Given the description of an element on the screen output the (x, y) to click on. 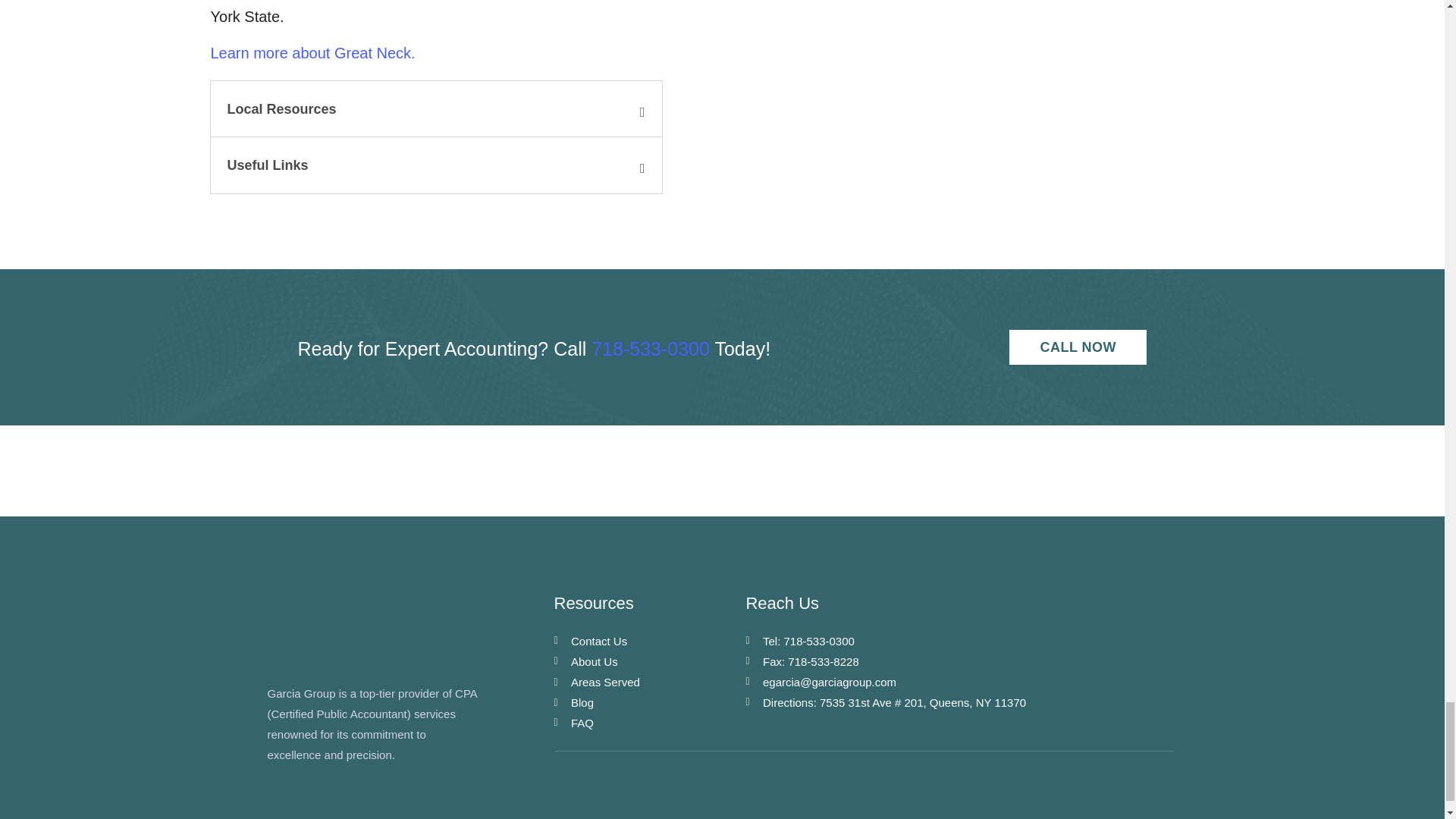
Reach Us (959, 603)
Ready for Expert Accounting? Call 718-533-0300 Today! (591, 348)
CALL NOW (1078, 347)
Resources (649, 603)
